Given the description of an element on the screen output the (x, y) to click on. 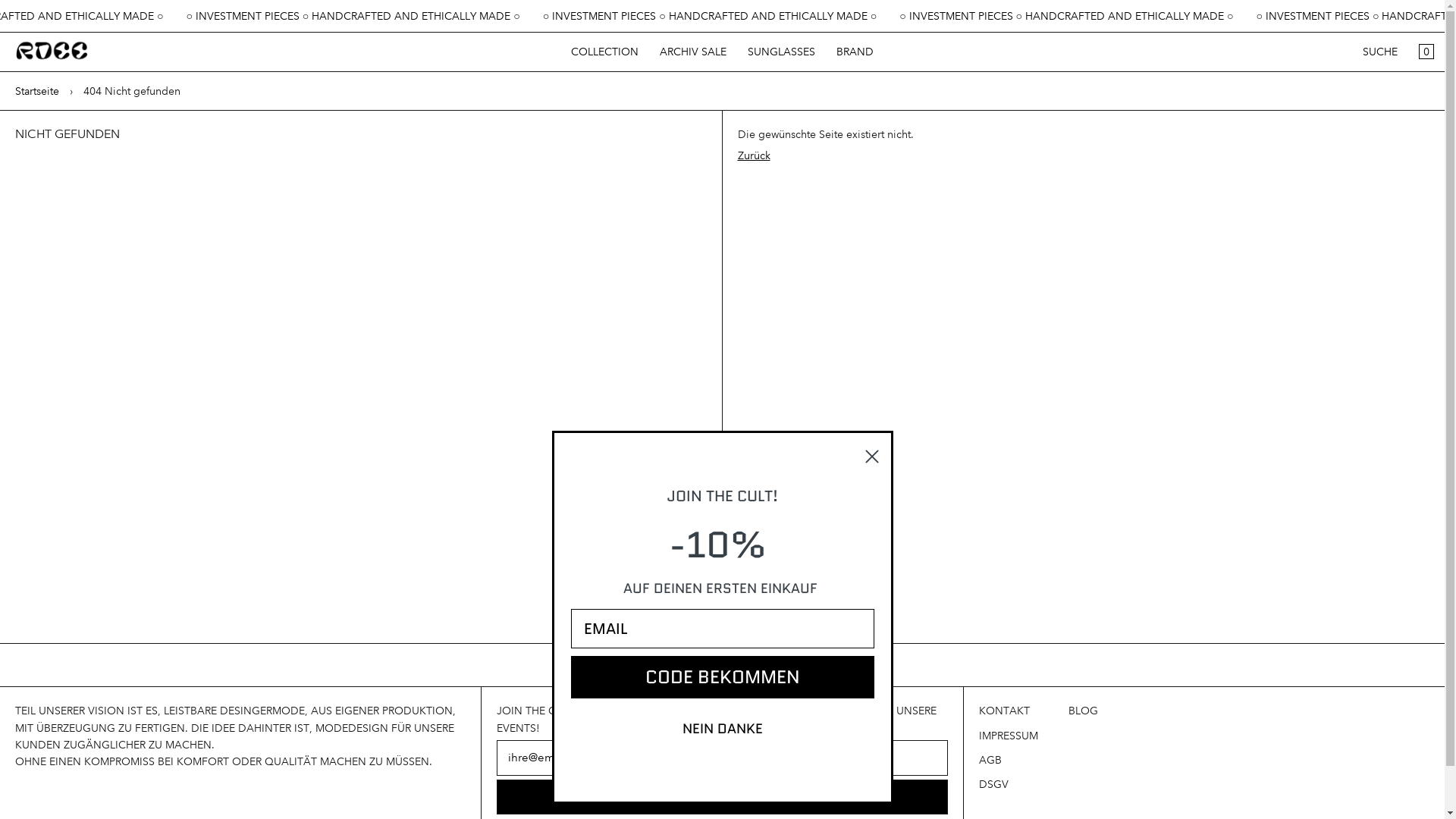
SUNGLASSES Element type: text (781, 51)
KONTAKT Element type: text (1004, 710)
BLOG Element type: text (1083, 710)
IMPRESSUM Element type: text (1008, 735)
ABONNIEREN Element type: text (721, 796)
NEIN DANKE Element type: text (721, 728)
Close dialog 1 Element type: text (870, 456)
SUCHE Element type: text (1380, 51)
ARCHIV SALE Element type: text (693, 51)
Startseite Element type: text (37, 90)
0 Element type: text (1426, 51)
AGB Element type: text (990, 759)
COLLECTION Element type: text (604, 51)
Submit Element type: text (33, 17)
CODE BEKOMMEN Element type: text (721, 676)
DSGV Element type: text (993, 783)
BRAND Element type: text (854, 51)
